Given the description of an element on the screen output the (x, y) to click on. 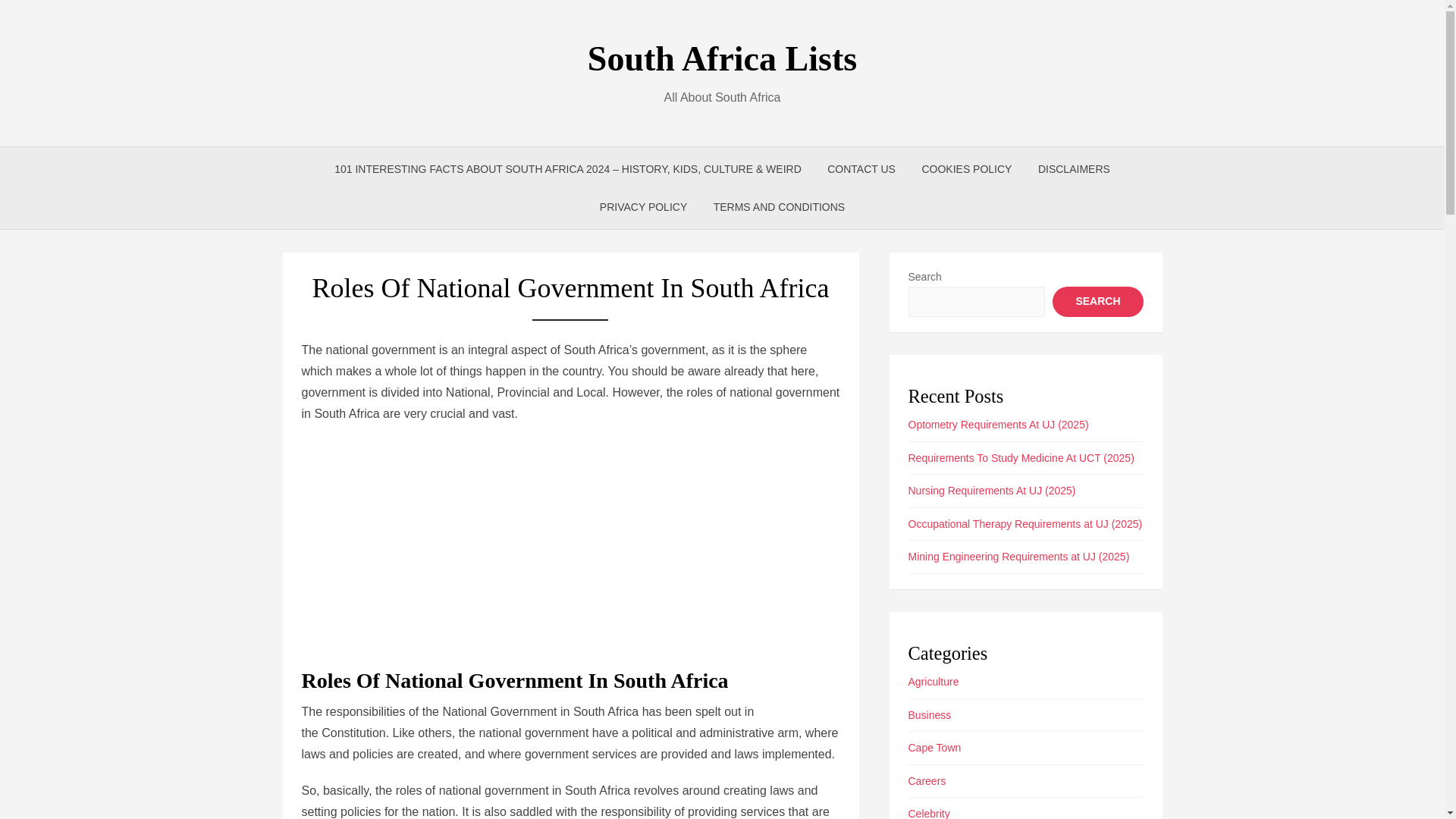
DISCLAIMERS (1073, 168)
SEARCH (1097, 301)
Business (930, 715)
Agriculture (933, 681)
PRIVACY POLICY (643, 207)
Advertisement (570, 545)
CONTACT US (861, 168)
TERMS AND CONDITIONS (778, 207)
Cape Town (934, 747)
Careers (927, 780)
